Given the description of an element on the screen output the (x, y) to click on. 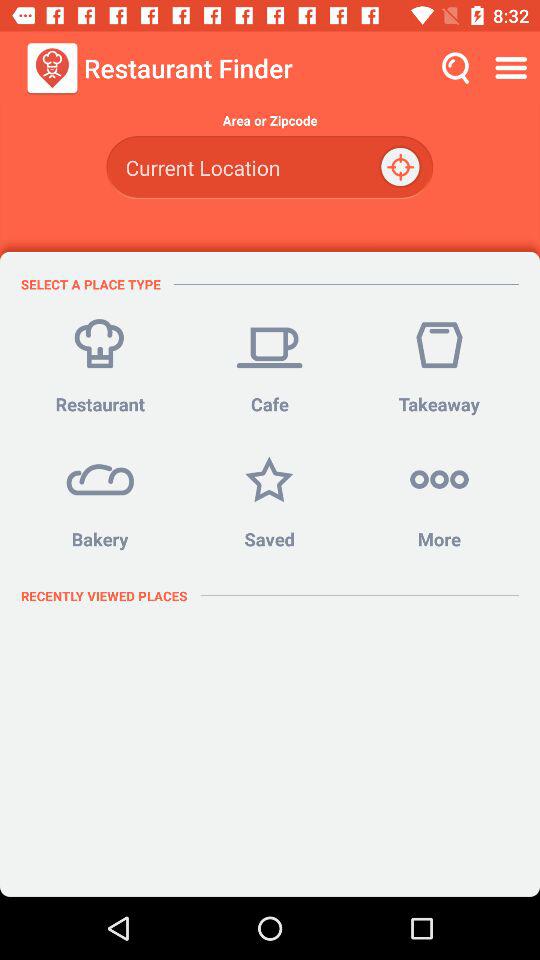
click item above the select a place (269, 167)
